Given the description of an element on the screen output the (x, y) to click on. 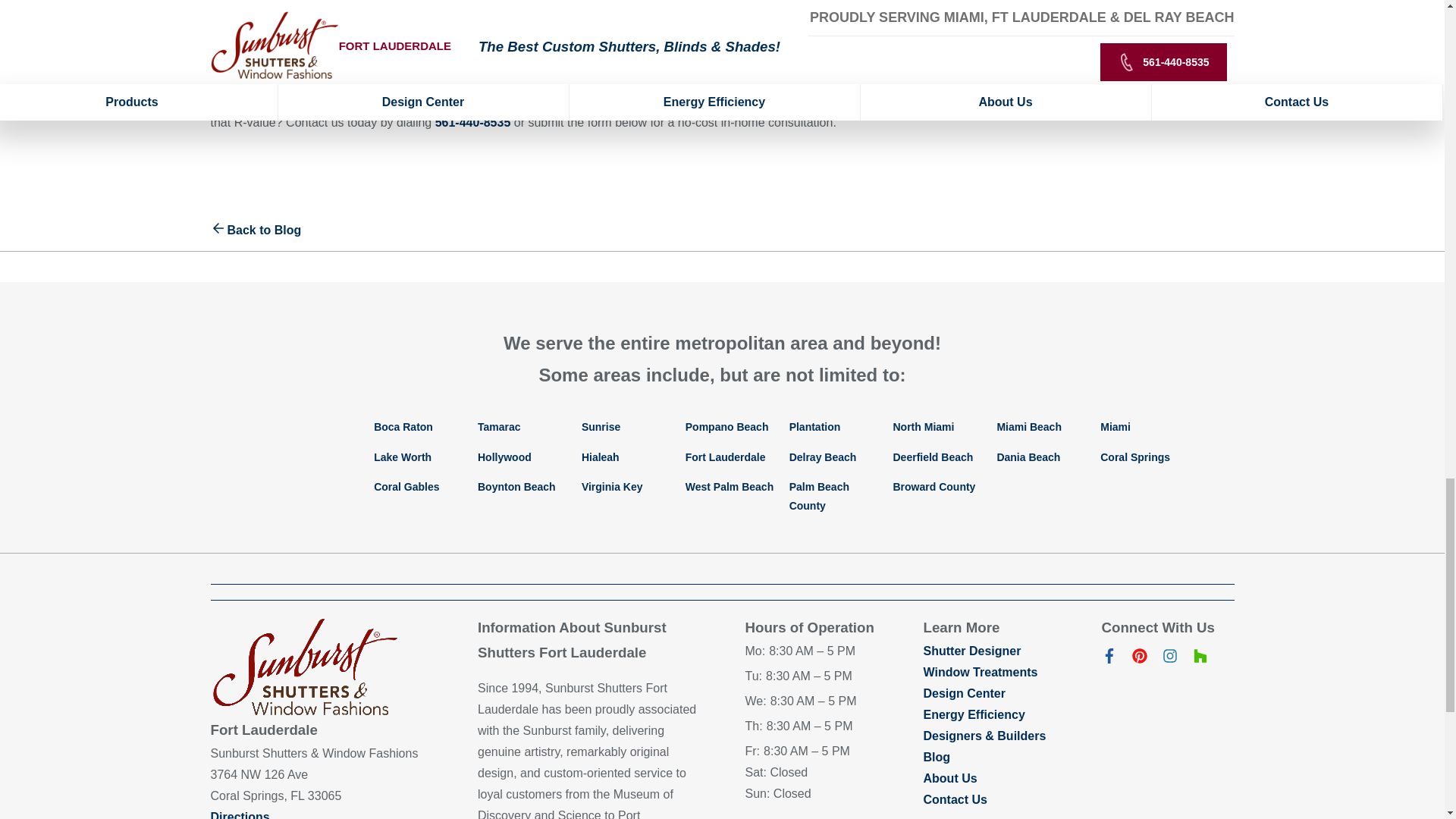
Follow us on Pinterest (1139, 658)
Like us on Facebook (1108, 658)
Save us on Houzz (1199, 658)
Follow us on Instagram (1168, 658)
